Given the description of an element on the screen output the (x, y) to click on. 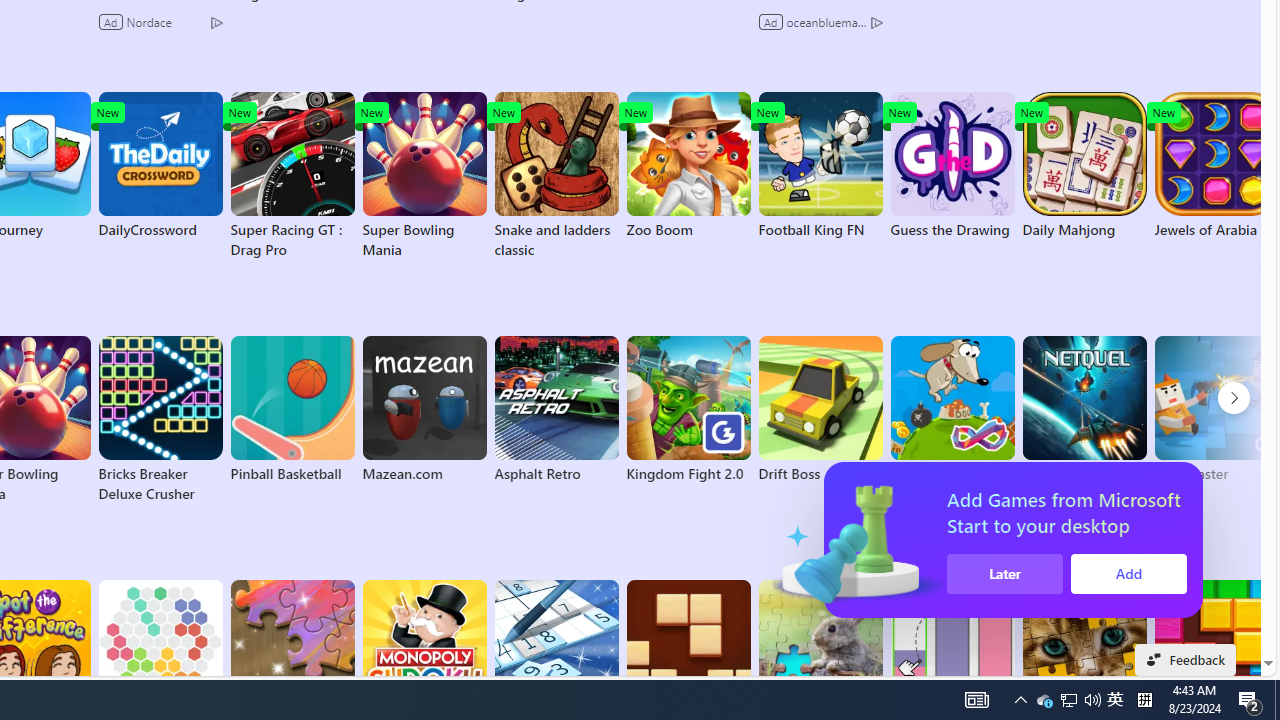
Pinball Basketball (292, 409)
Jewels of Arabia (1216, 165)
Football King FN (820, 165)
Drift Boss (820, 409)
Zoo Boom (688, 165)
Gun Master (1216, 409)
netquel.com (1083, 409)
Class: ad-choice  ad-choice-mono  (876, 21)
Kingdom Fight 2.0 (688, 409)
DailyCrossword (160, 165)
Super Racing GT : Drag Pro (292, 175)
Bricks Breaker Deluxe Crusher (160, 419)
Add (1135, 573)
